Given the description of an element on the screen output the (x, y) to click on. 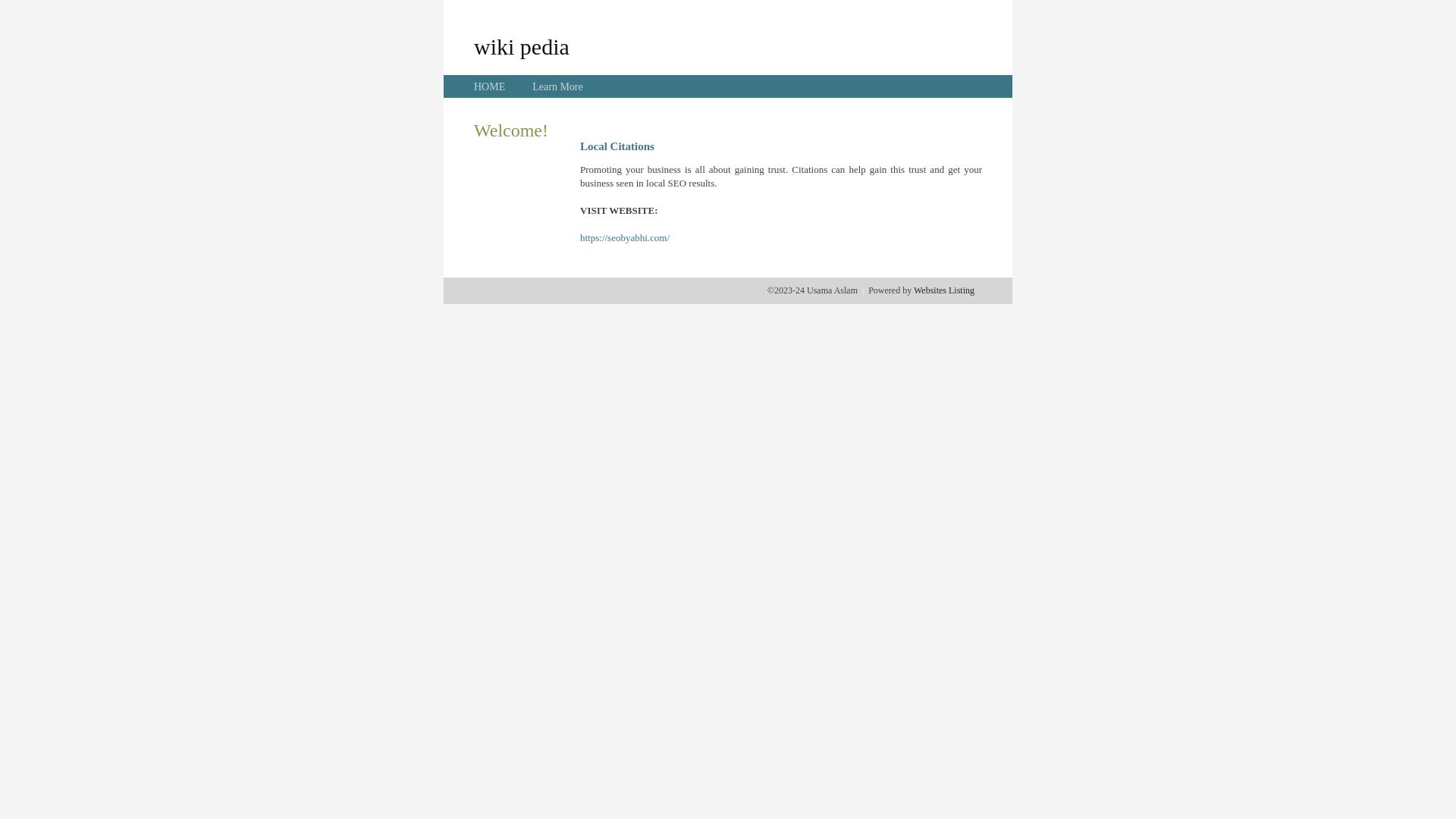
Learn More Element type: text (557, 86)
https://seobyabhi.com/ Element type: text (624, 237)
wiki pedia Element type: text (521, 46)
Websites Listing Element type: text (943, 290)
HOME Element type: text (489, 86)
